Given the description of an element on the screen output the (x, y) to click on. 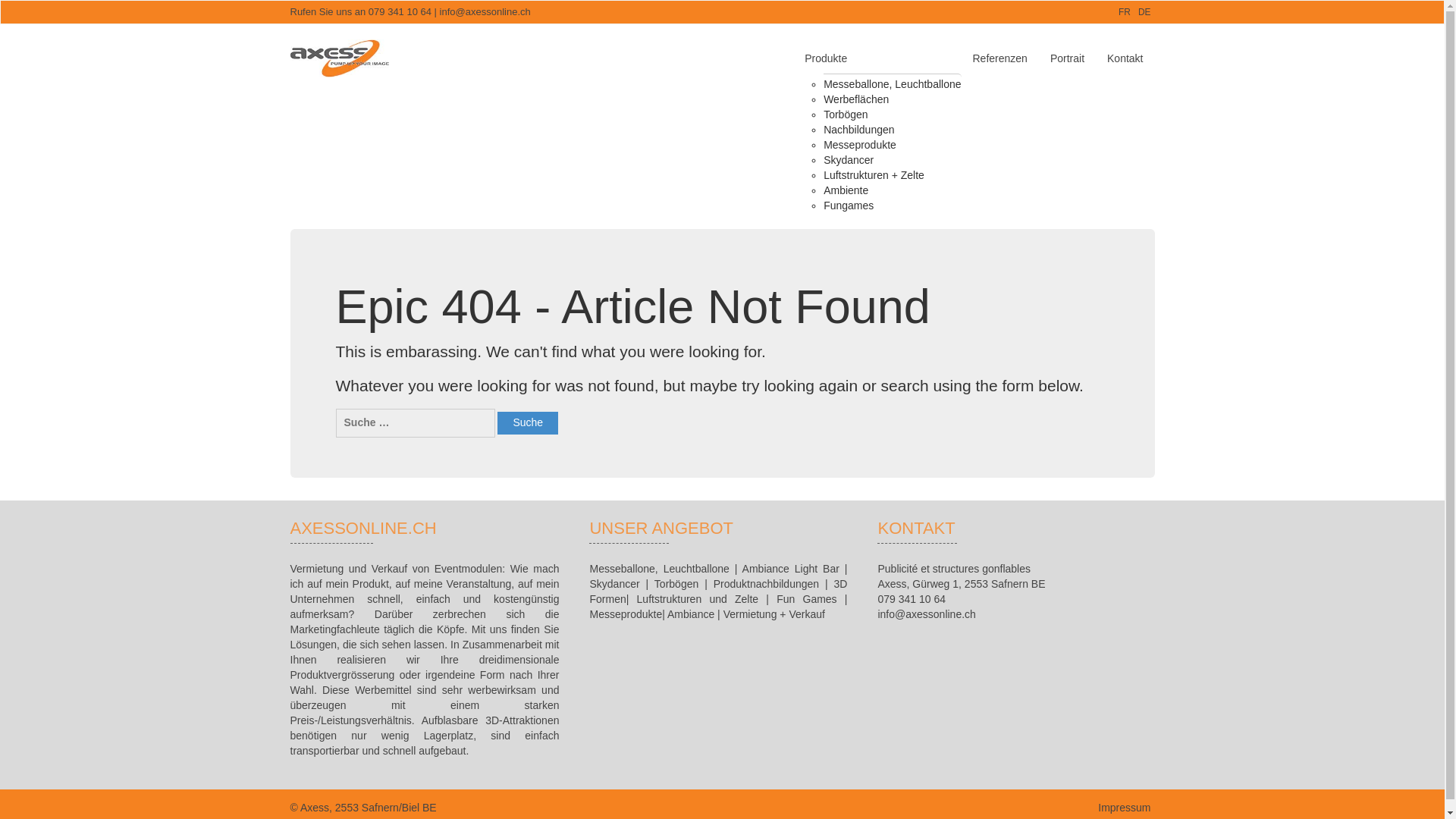
Nachbildungen (858, 129)
Referenzen (999, 57)
DE (1144, 11)
Suche (527, 422)
Produkte (876, 57)
Ambiente (845, 189)
Kontakt (1125, 57)
Skydancer (848, 159)
Suche (527, 422)
Messeprodukte (860, 144)
FR (1124, 11)
Impressum (1123, 807)
Fungames (848, 205)
Suche (527, 422)
Messeballone, Leuchtballone (892, 83)
